Given the description of an element on the screen output the (x, y) to click on. 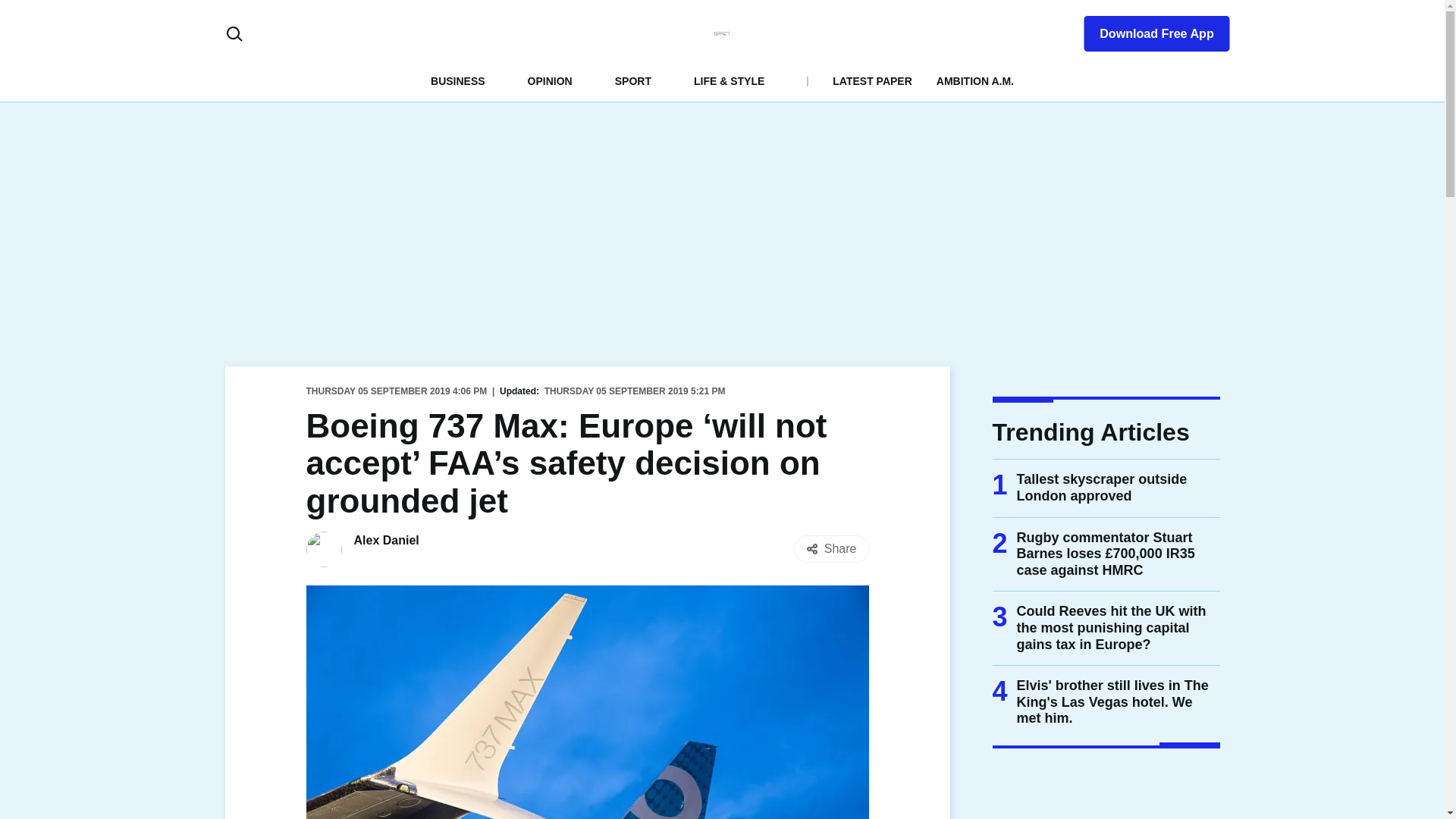
CityAM (721, 33)
OPINION (549, 80)
SPORT (632, 80)
BUSINESS (457, 80)
Download Free App (1146, 30)
